Given the description of an element on the screen output the (x, y) to click on. 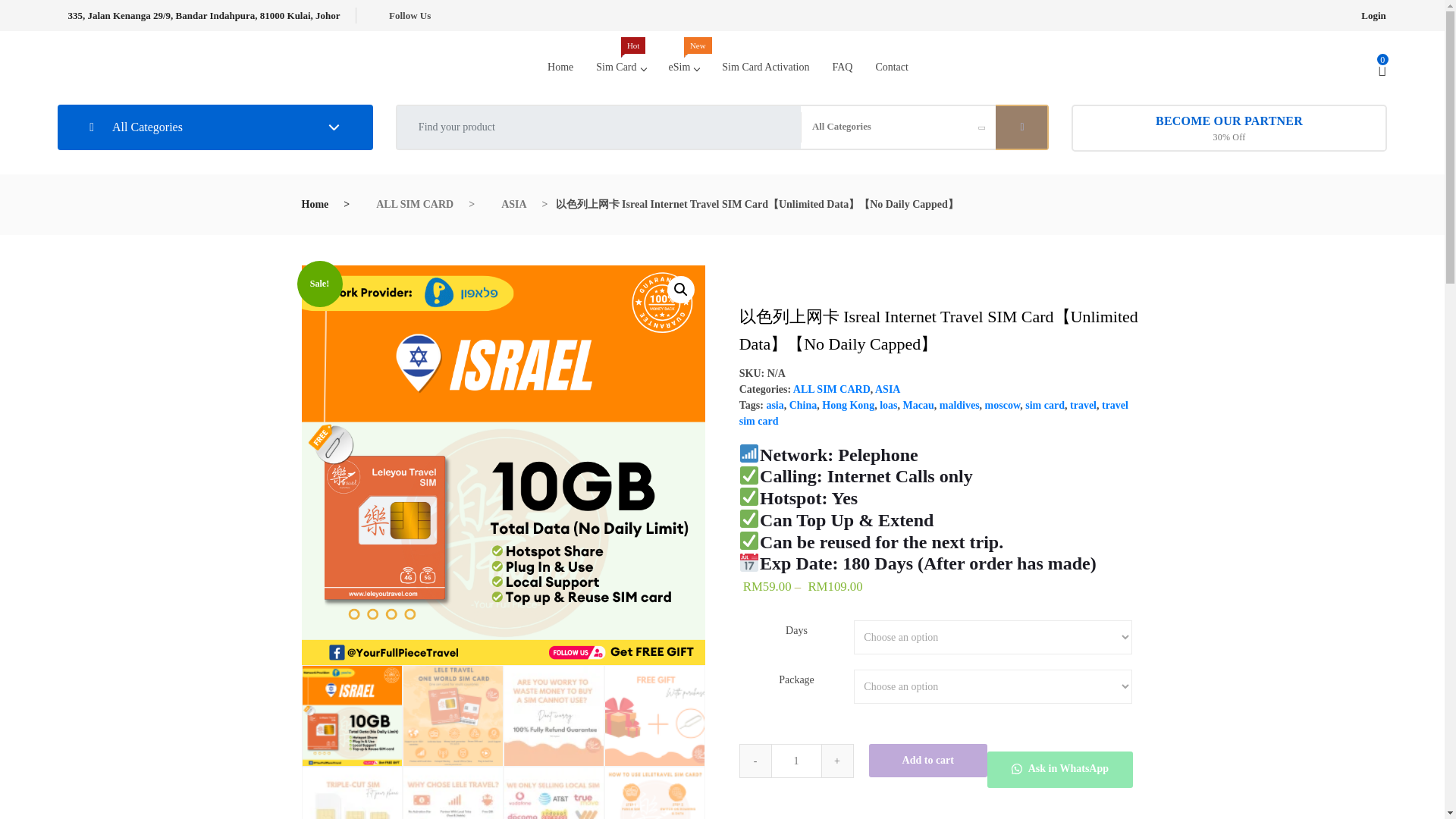
Login (1373, 15)
Home (560, 67)
Sim Card (620, 67)
Sim Card Activation (765, 67)
FAQ (842, 67)
Home (620, 67)
- (560, 67)
Contact (755, 760)
FAQ (885, 67)
Sim Card Activation (842, 67)
1 (765, 67)
0 (684, 67)
All Categories (796, 760)
